Given the description of an element on the screen output the (x, y) to click on. 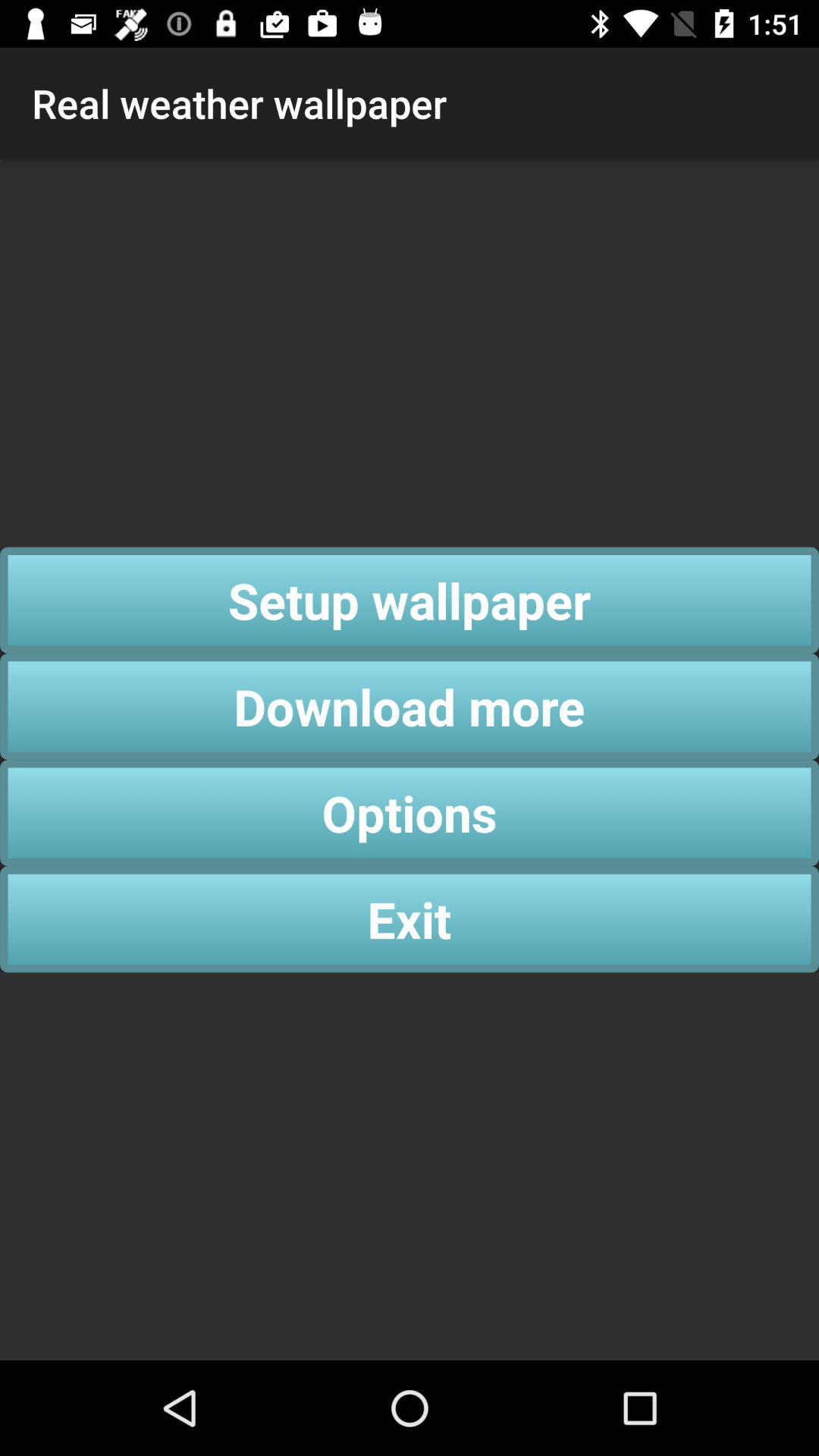
tap the download more button (409, 706)
